Given the description of an element on the screen output the (x, y) to click on. 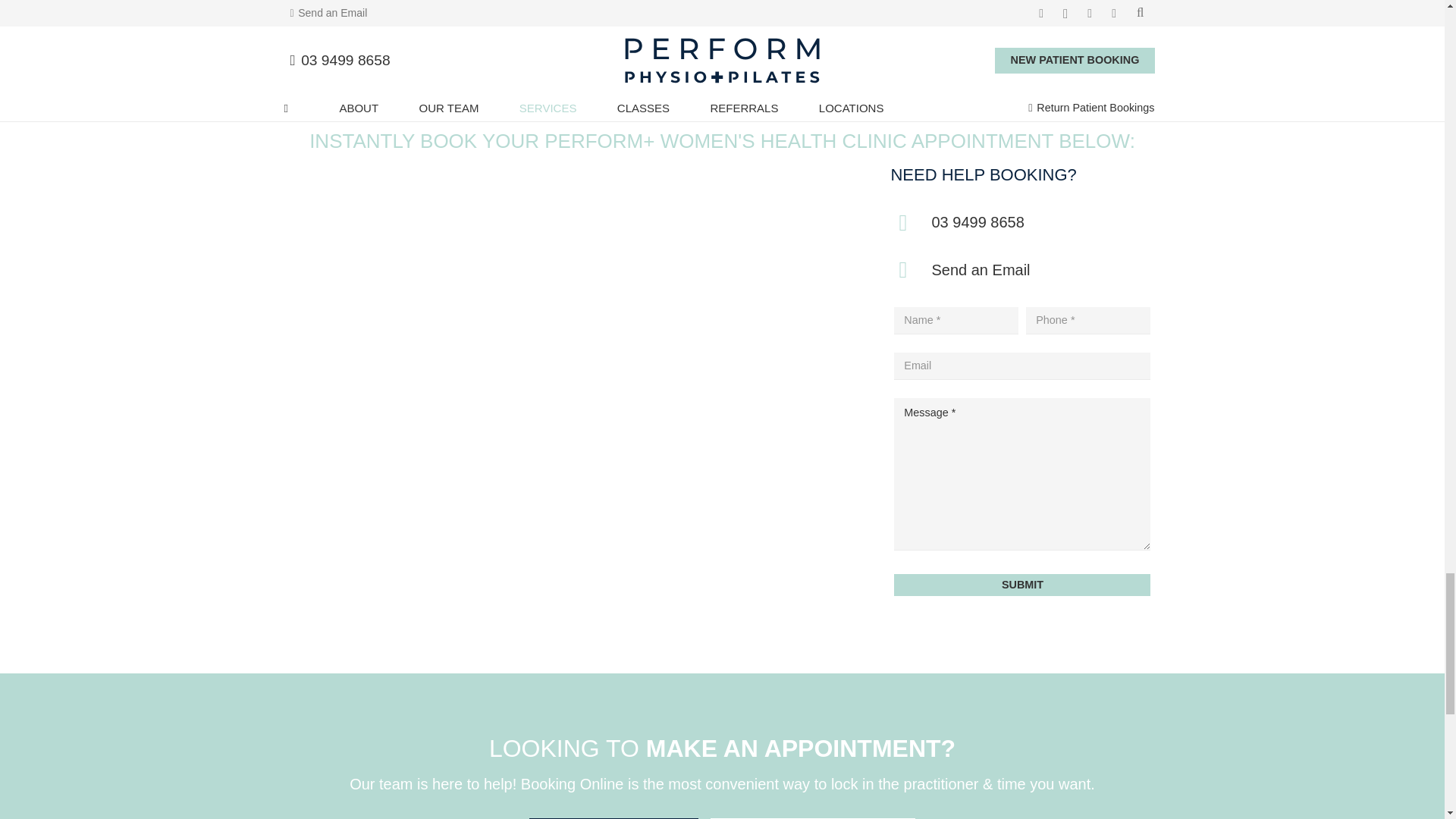
Send an Email (910, 269)
Send an Email (980, 270)
Submit (1021, 585)
